Given the description of an element on the screen output the (x, y) to click on. 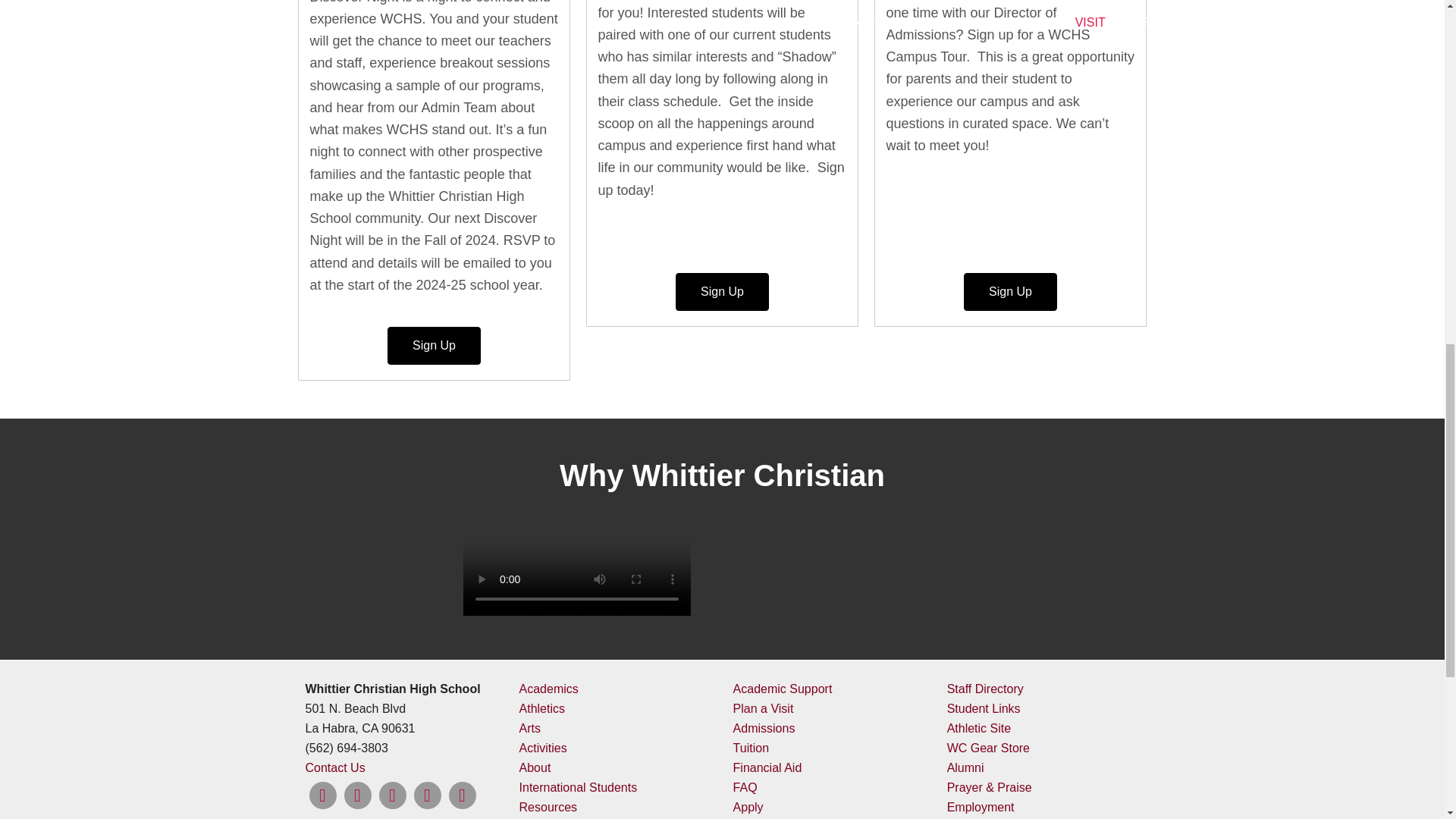
About (535, 767)
Sign Up (1010, 291)
Admissions (763, 727)
FAQ (745, 787)
Contact Us (334, 767)
Financial Aid (767, 767)
Twitter (392, 795)
Sign Up (721, 291)
Vimeo (427, 795)
Resources (547, 807)
